Given the description of an element on the screen output the (x, y) to click on. 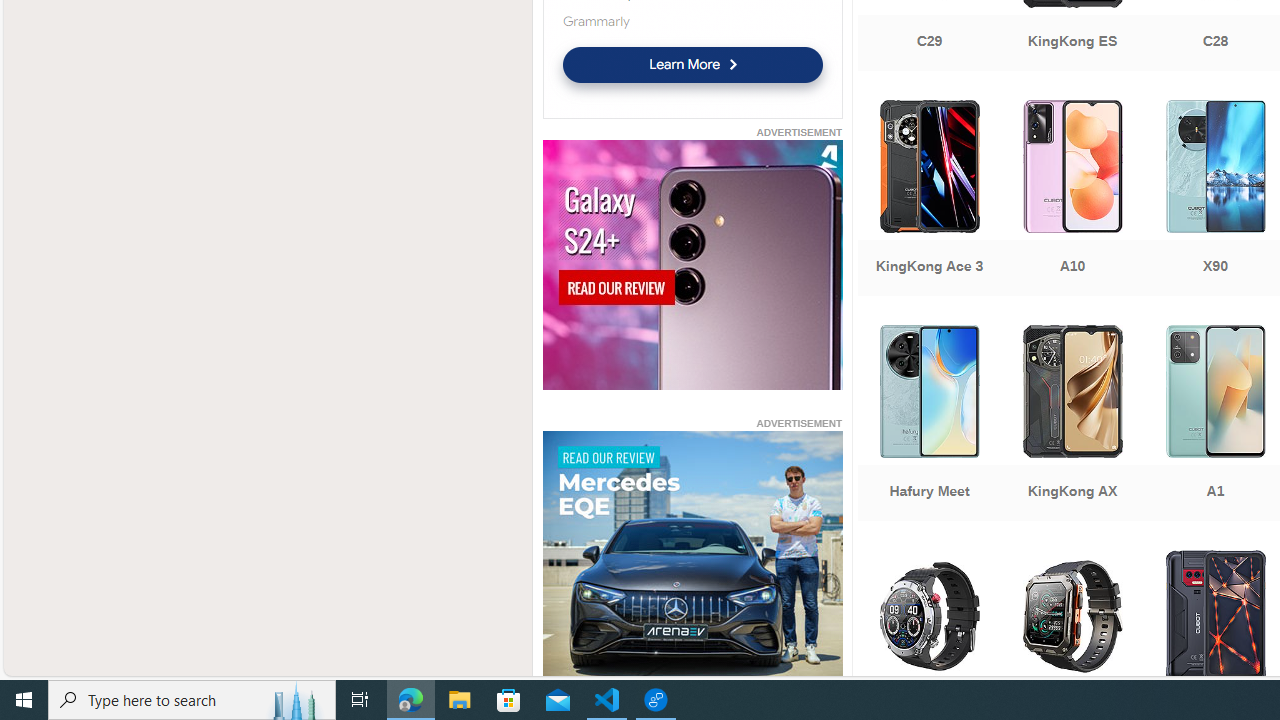
Learn More (692, 64)
